Given the description of an element on the screen output the (x, y) to click on. 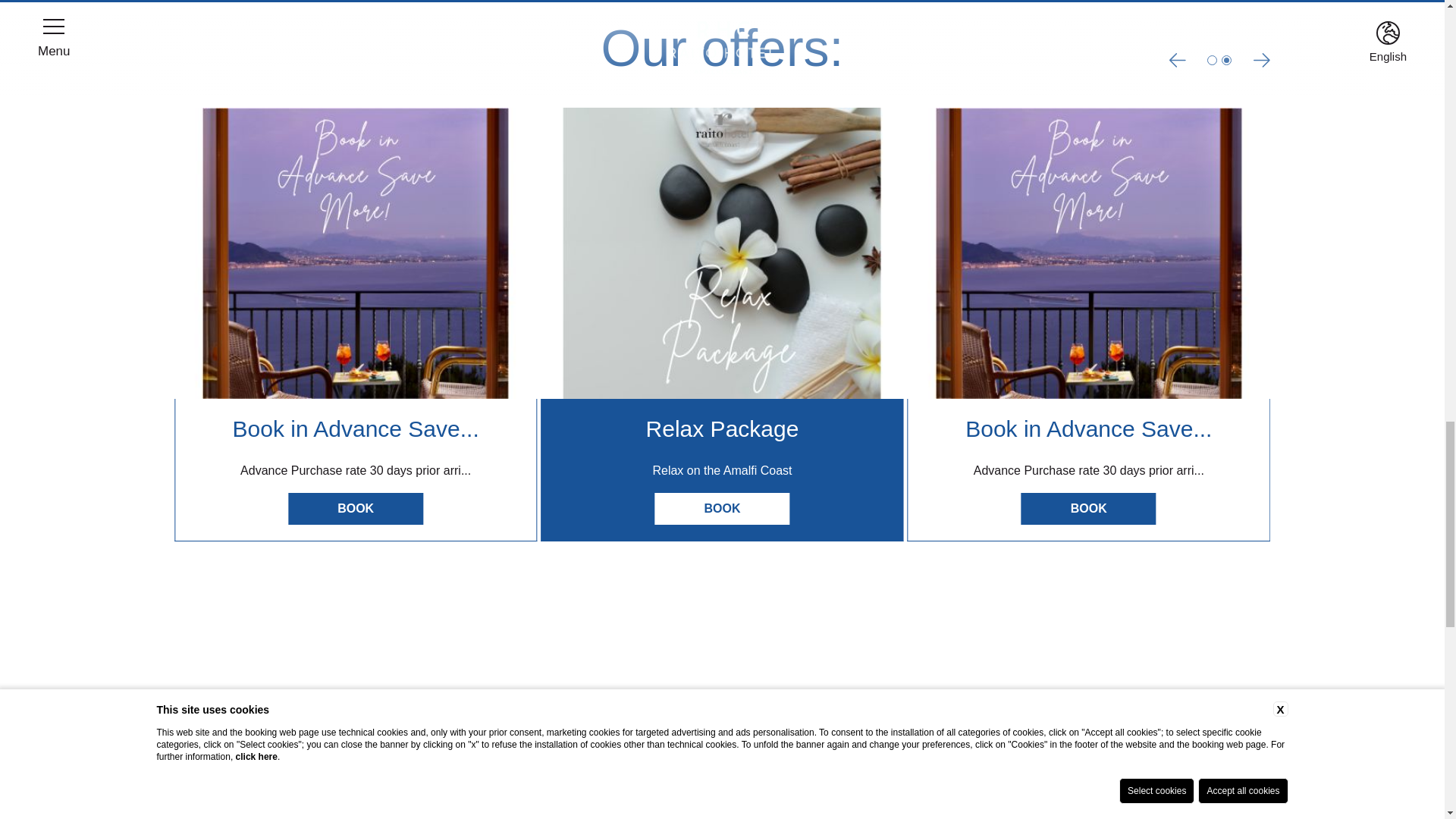
Charming hotel Salerno (1088, 253)
Charming hotel Salerno (721, 253)
Hotel RaitoLogo (840, 789)
Palazzo MontemartiniLogo (603, 789)
Charming hotel Salerno (355, 253)
